Given the description of an element on the screen output the (x, y) to click on. 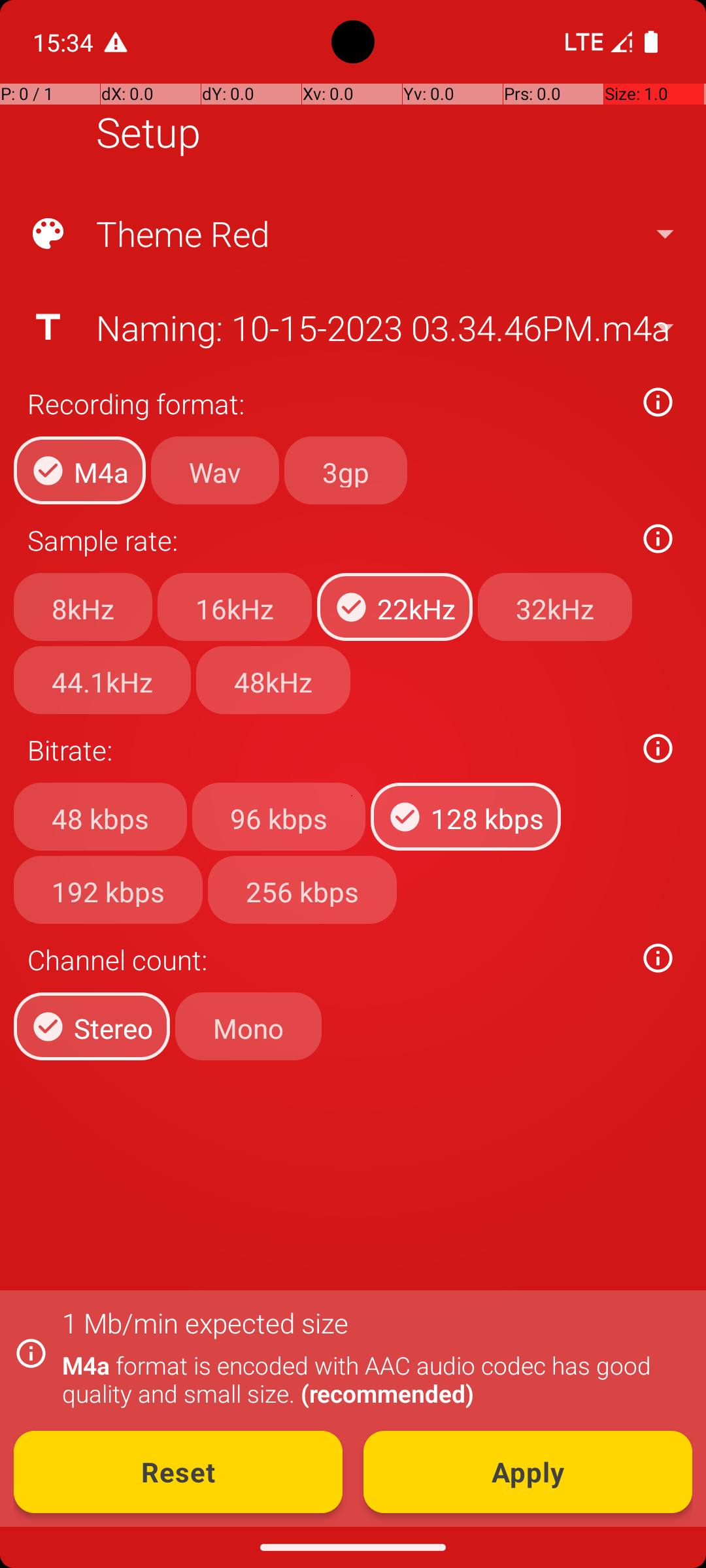
1 Mb/min expected size Element type: android.widget.TextView (205, 1322)
M4a format is encoded with AAC audio codec has good quality and small size. (recommended) Element type: android.widget.TextView (370, 1378)
Reset Element type: android.widget.Button (177, 1471)
Apply Element type: android.widget.Button (527, 1471)
Setup Element type: android.widget.TextView (148, 131)
Recording format: Element type: android.widget.TextView (325, 403)
M4a Element type: android.widget.TextView (79, 470)
Wav Element type: android.widget.TextView (215, 470)
3gp Element type: android.widget.TextView (345, 470)
Sample rate: Element type: android.widget.TextView (325, 539)
44.1kHz Element type: android.widget.TextView (101, 680)
22kHz Element type: android.widget.TextView (394, 606)
16kHz Element type: android.widget.TextView (234, 606)
32kHz Element type: android.widget.TextView (554, 606)
48kHz Element type: android.widget.TextView (273, 680)
8kHz Element type: android.widget.TextView (82, 606)
Bitrate: Element type: android.widget.TextView (325, 749)
128 kbps Element type: android.widget.TextView (465, 816)
192 kbps Element type: android.widget.TextView (107, 889)
256 kbps Element type: android.widget.TextView (301, 889)
48 kbps Element type: android.widget.TextView (99, 816)
96 kbps Element type: android.widget.TextView (278, 816)
Channel count: Element type: android.widget.TextView (325, 959)
Stereo Element type: android.widget.TextView (91, 1026)
Mono Element type: android.widget.TextView (248, 1026)
Theme Red Element type: android.widget.TextView (352, 233)
Naming: 10-15-2023 03.34.46PM.m4a Element type: android.widget.TextView (352, 327)
Android System notification: Data warning Element type: android.widget.ImageView (115, 41)
Phone one bar. Element type: android.widget.FrameLayout (595, 41)
